Given the description of an element on the screen output the (x, y) to click on. 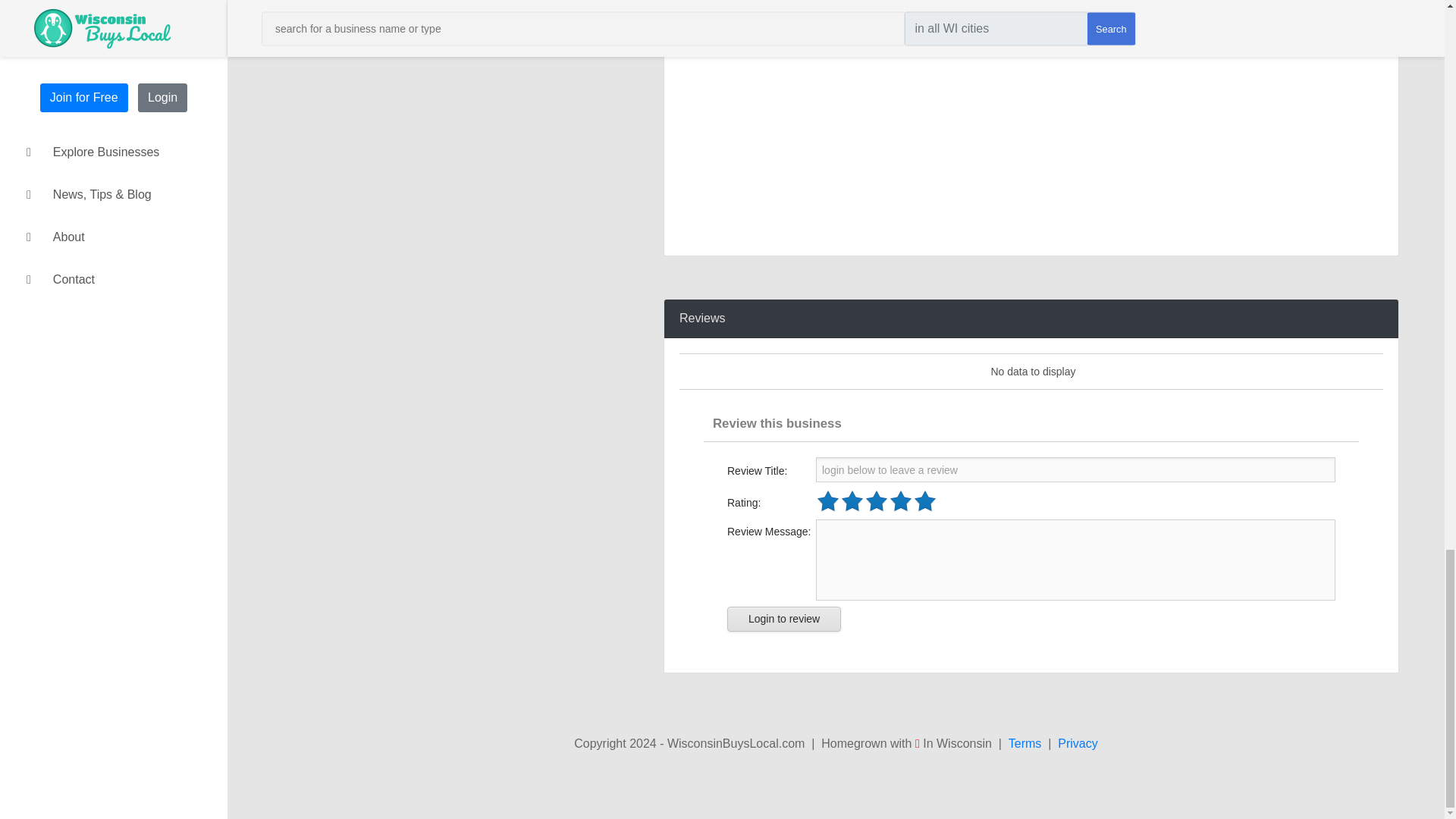
Privacy (1077, 743)
login below to leave a review (1077, 469)
Terms (1025, 743)
